Given the description of an element on the screen output the (x, y) to click on. 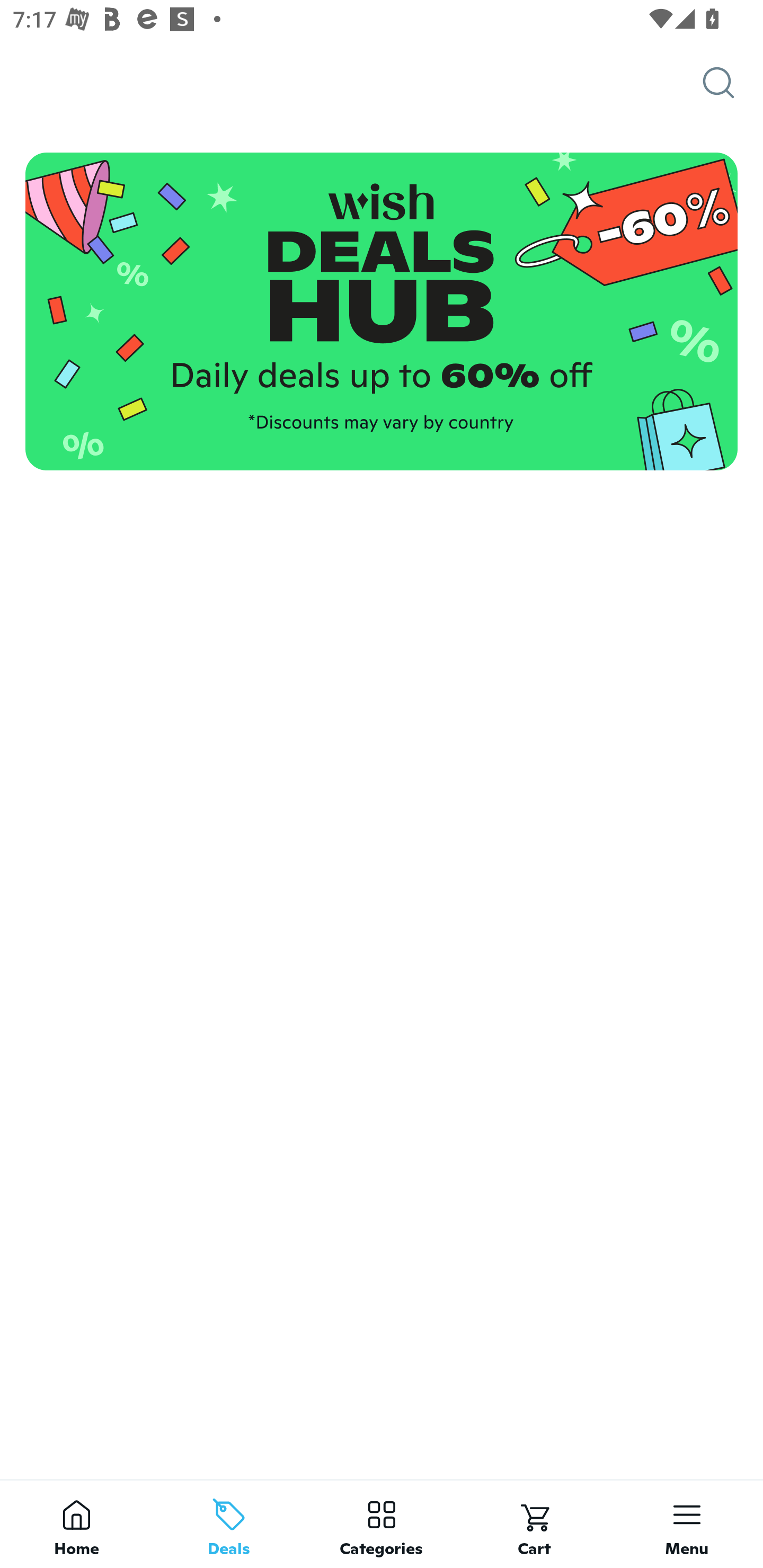
Search (732, 82)
Home (76, 1523)
Deals (228, 1523)
Categories (381, 1523)
Cart (533, 1523)
Menu (686, 1523)
